Given the description of an element on the screen output the (x, y) to click on. 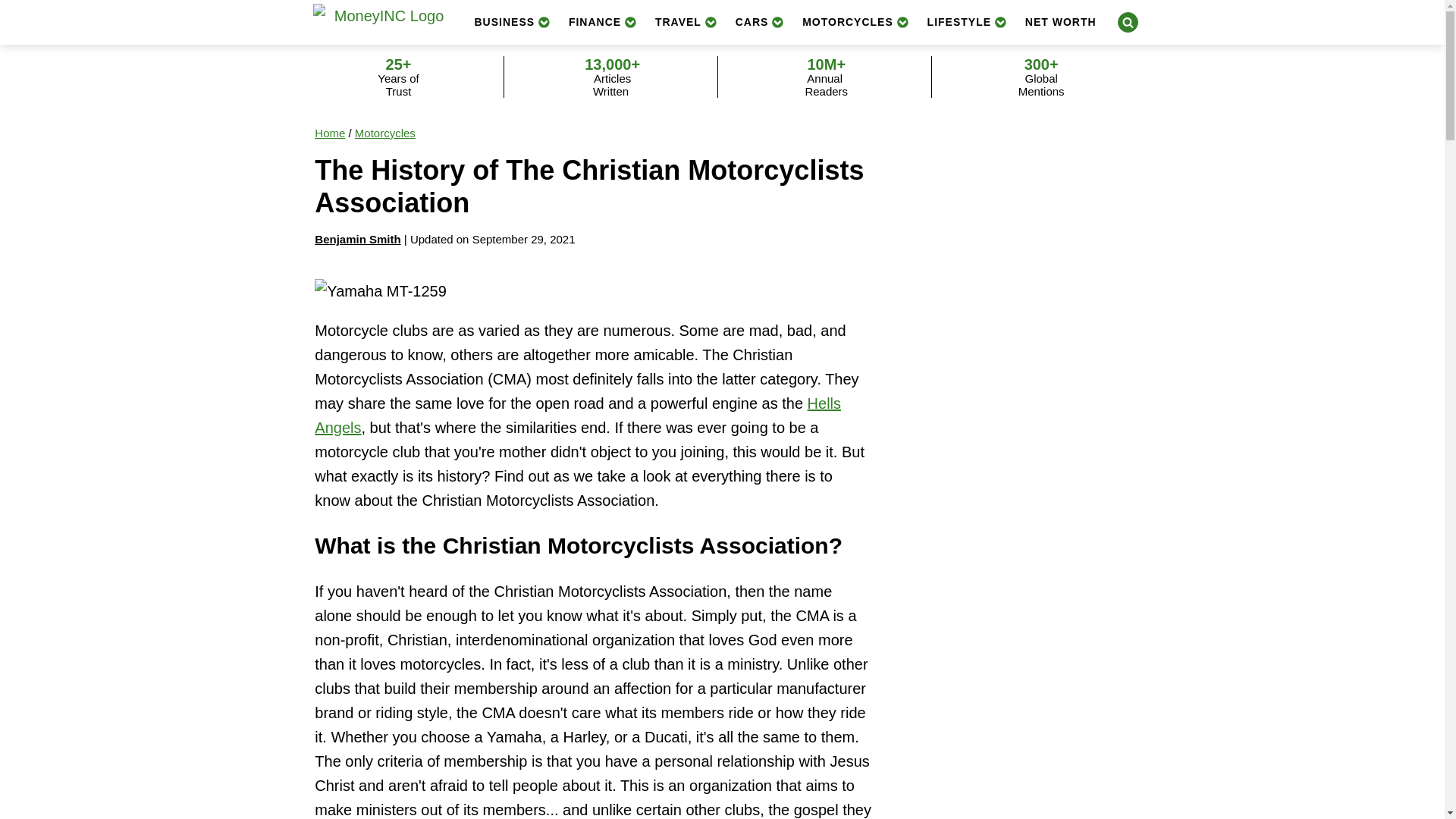
FINANCE (602, 22)
CARS (759, 22)
BUSINESS (512, 22)
TRAVEL (686, 22)
